Given the description of an element on the screen output the (x, y) to click on. 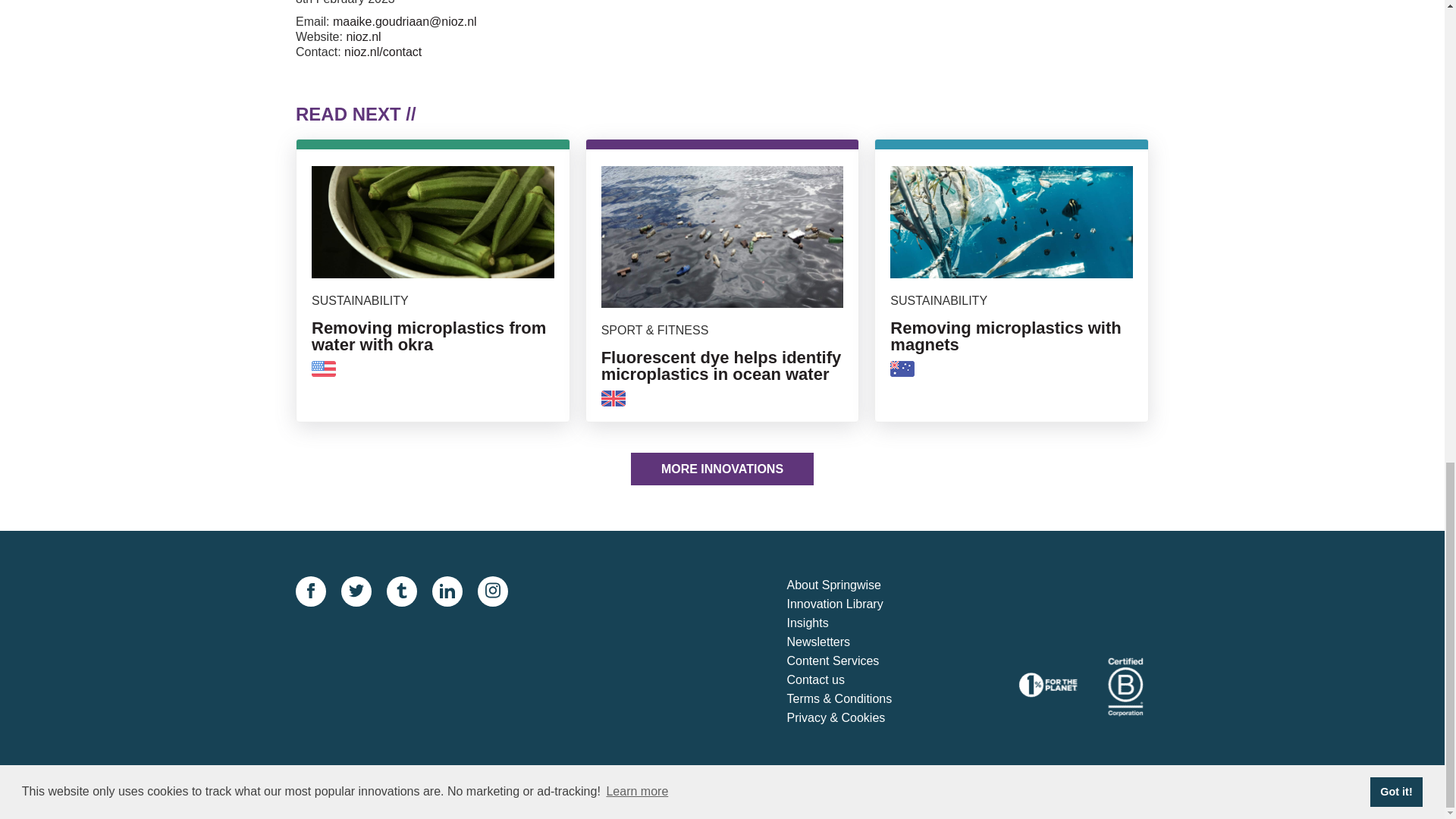
About Springwise (1011, 286)
Insights (856, 585)
Newsletters (856, 623)
nioz.nl (432, 286)
Content Services (856, 642)
Contact us (363, 36)
Innovation Library (856, 660)
MORE INNOVATIONS (856, 680)
